Given the description of an element on the screen output the (x, y) to click on. 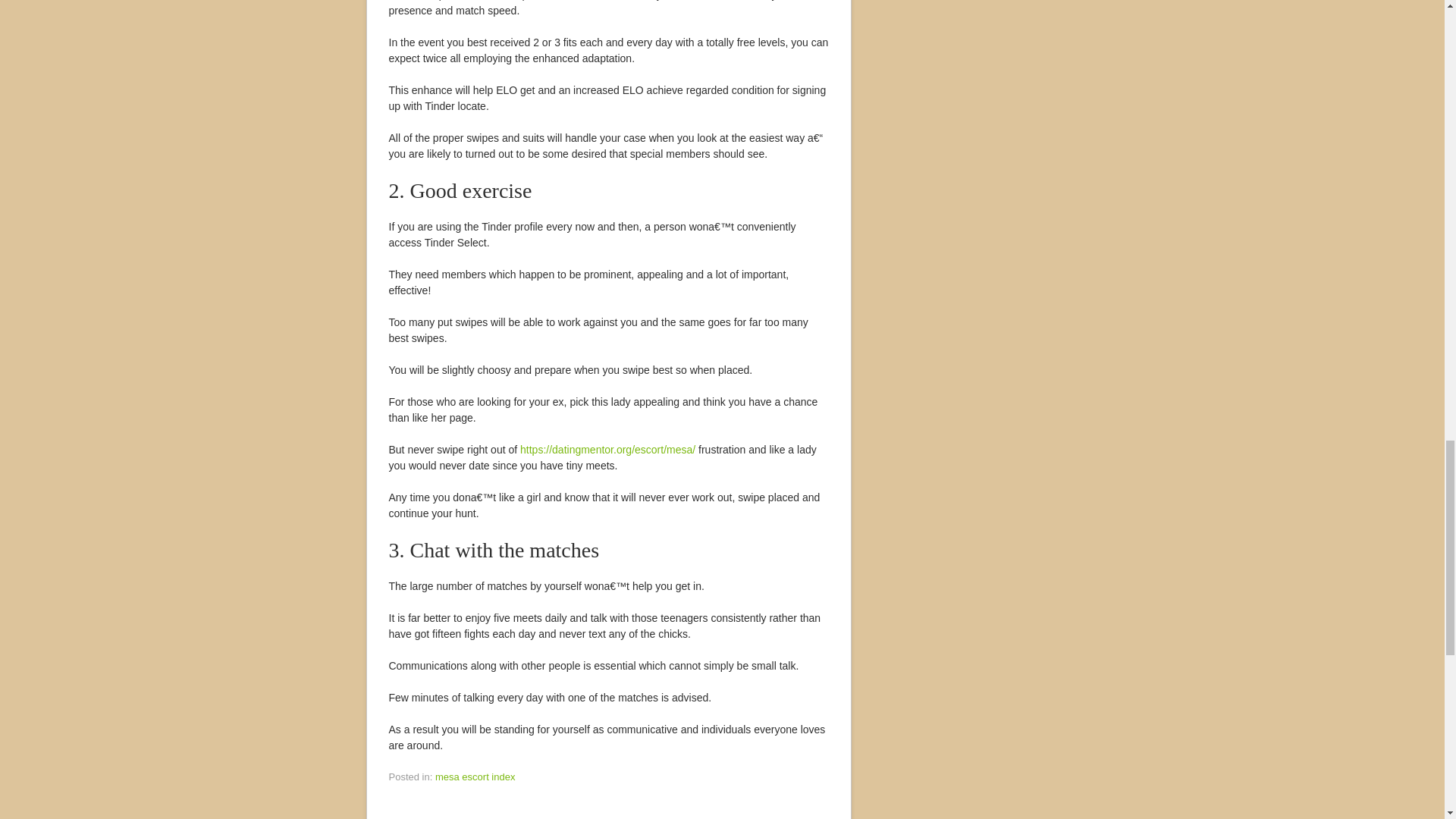
mesa escort index (475, 776)
